Given the description of an element on the screen output the (x, y) to click on. 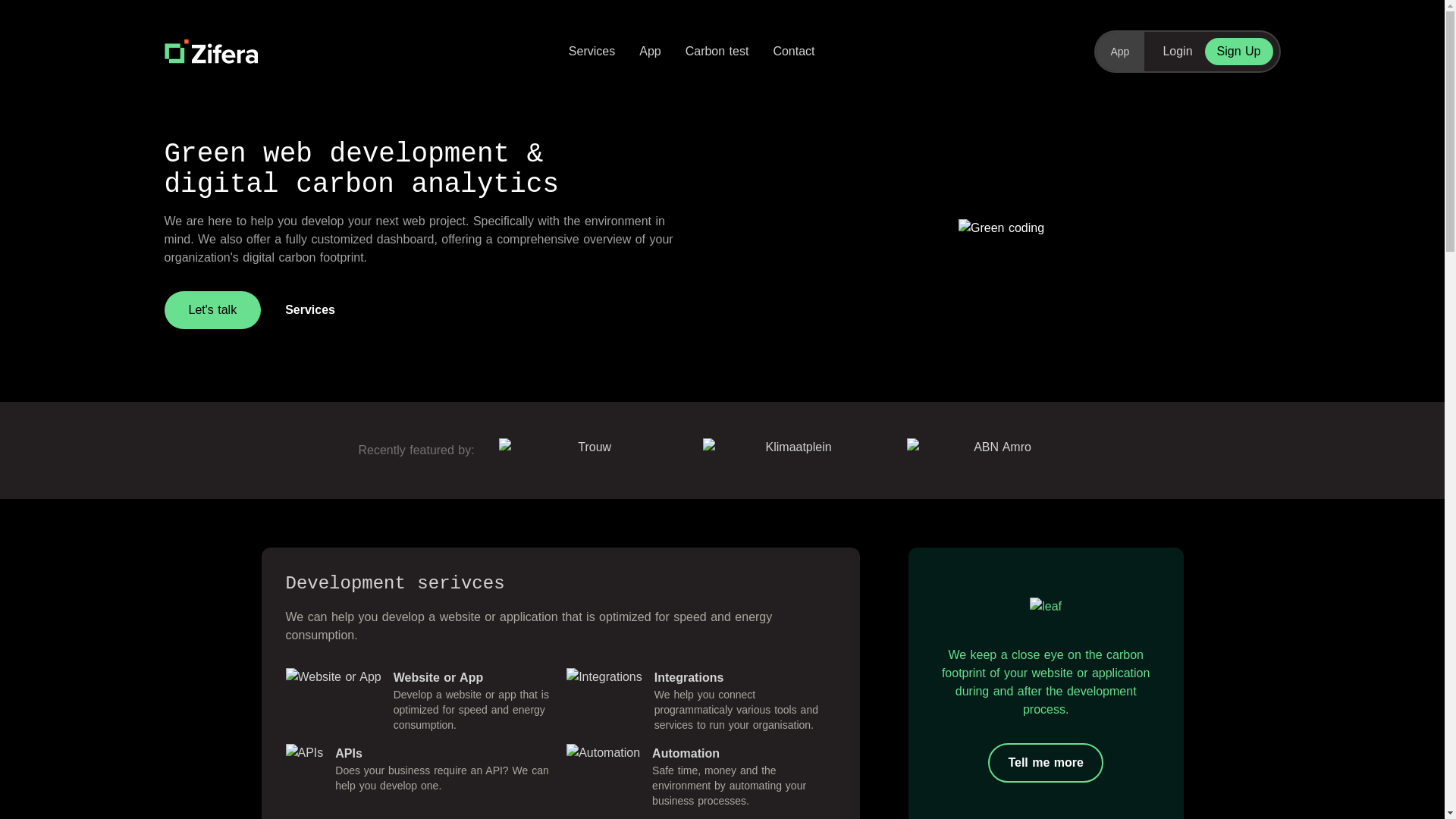
App (650, 51)
Tell me more (1045, 762)
Let's talk (211, 310)
Sign Up (1238, 51)
Login (1176, 51)
Services (309, 310)
App (1119, 51)
Contact (793, 51)
Carbon test (717, 51)
Services (591, 51)
